Given the description of an element on the screen output the (x, y) to click on. 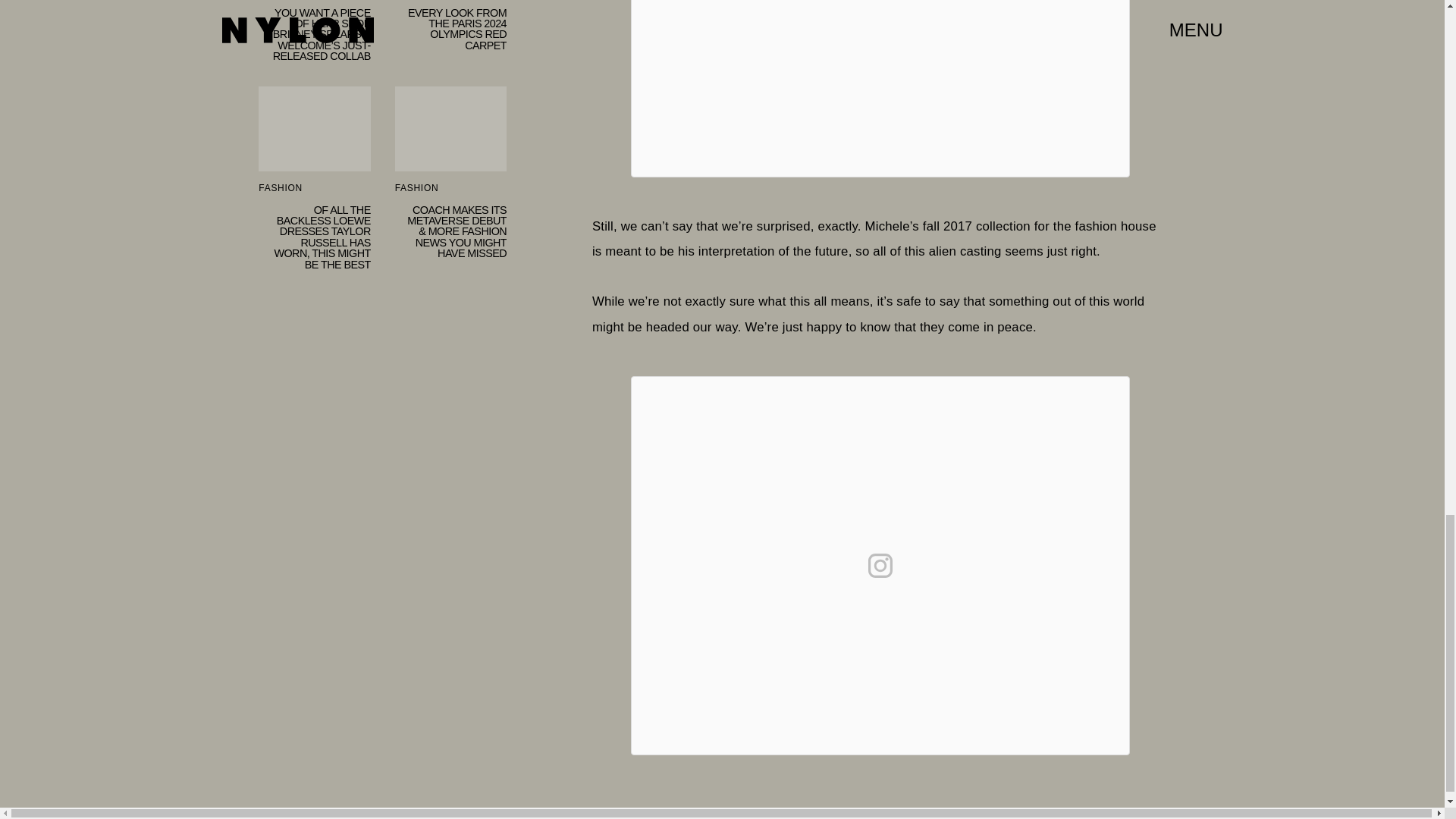
View on Instagram (450, 43)
